Given the description of an element on the screen output the (x, y) to click on. 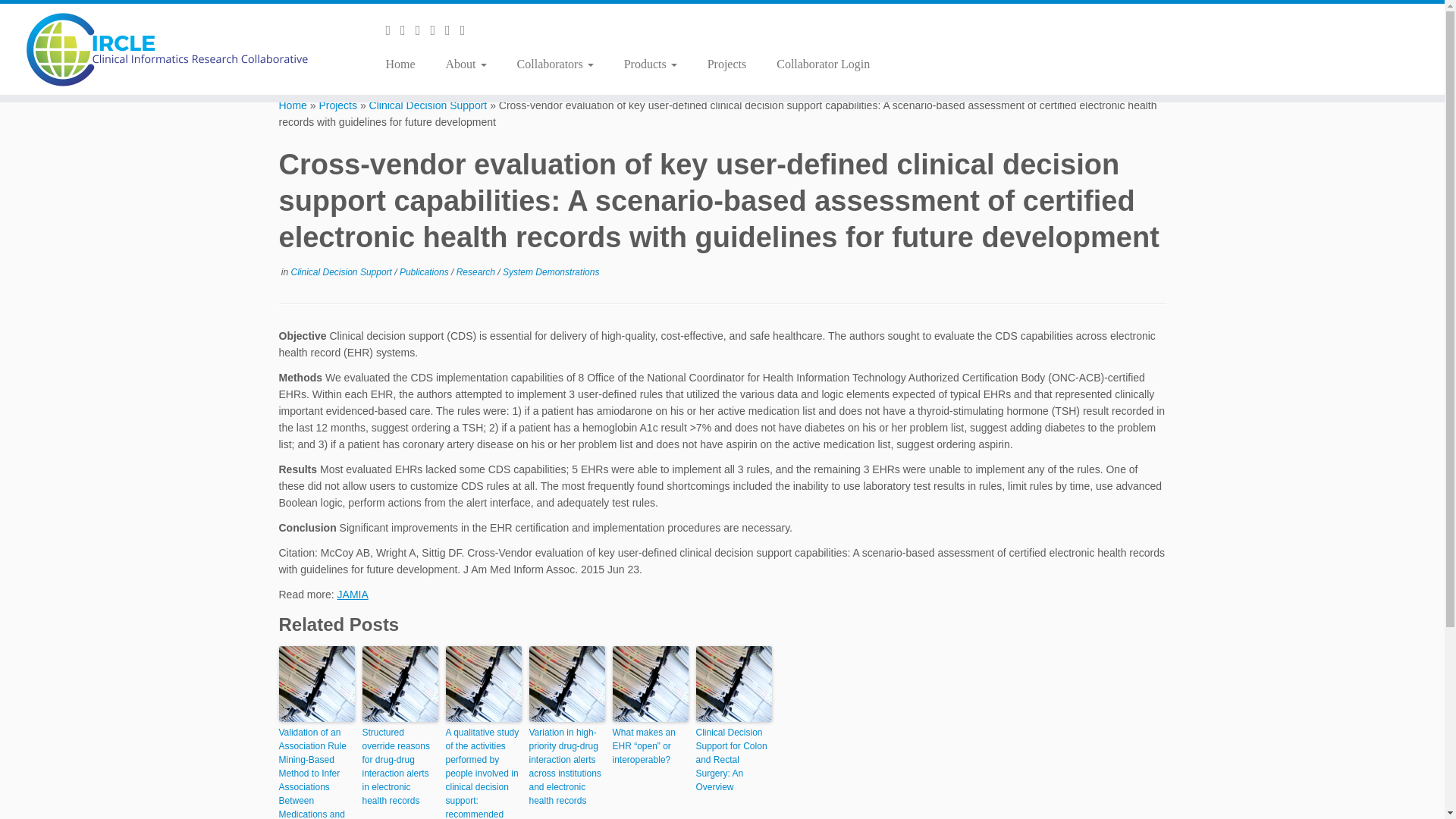
Collaborator Login (815, 64)
Follow me on Youtube (452, 29)
Publications (424, 271)
View all posts in Clinical Decision Support (342, 271)
Research (477, 271)
Clinical Decision Support (428, 105)
View all posts in System Demonstrations (550, 271)
Projects (337, 105)
Clinical Decision Support (428, 105)
CIRCLE: Clinical Informatics Research Collaborative (293, 105)
Home (405, 64)
Products (650, 64)
Home (293, 105)
JAMIA (352, 594)
Projects (727, 64)
